Given the description of an element on the screen output the (x, y) to click on. 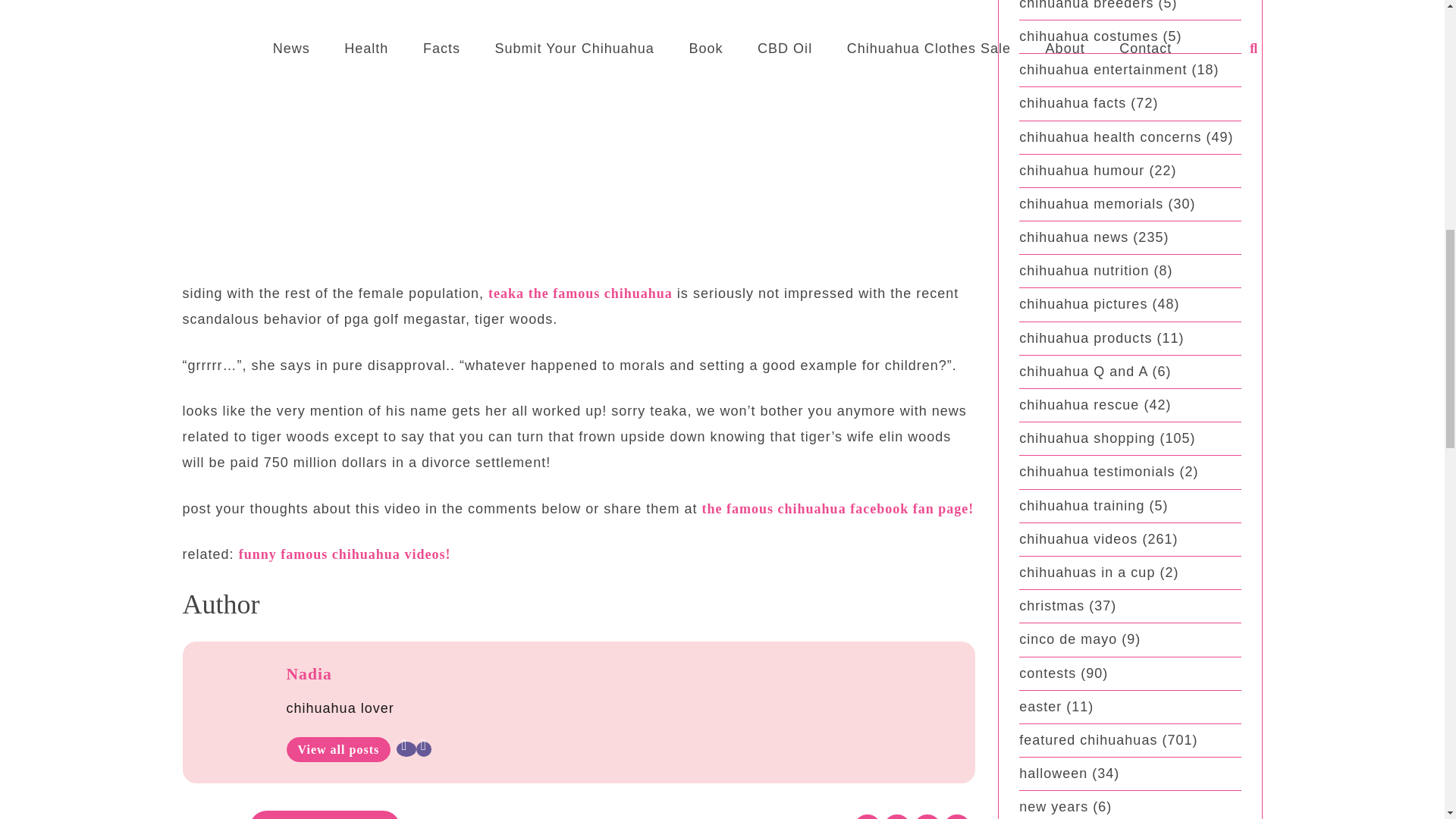
the famous chihuahua facebook fan page! (837, 508)
chihuahua breeders (1086, 5)
the famous chihuhua facebook fanpage! (837, 508)
Nadia (308, 674)
chihuahua entertainment (1102, 69)
View all posts (338, 749)
funny famous chihuahua videos! (344, 554)
teaka the famous chihuahua (579, 293)
chihuahua videos (324, 814)
chihuahua costumes (1088, 36)
funny famous chihuahua videos! (344, 554)
chihuahua health concerns (1110, 136)
chihuahua facts (1072, 102)
chihuahua humour (1081, 170)
teaka the famous chihuahua (579, 293)
